Given the description of an element on the screen output the (x, y) to click on. 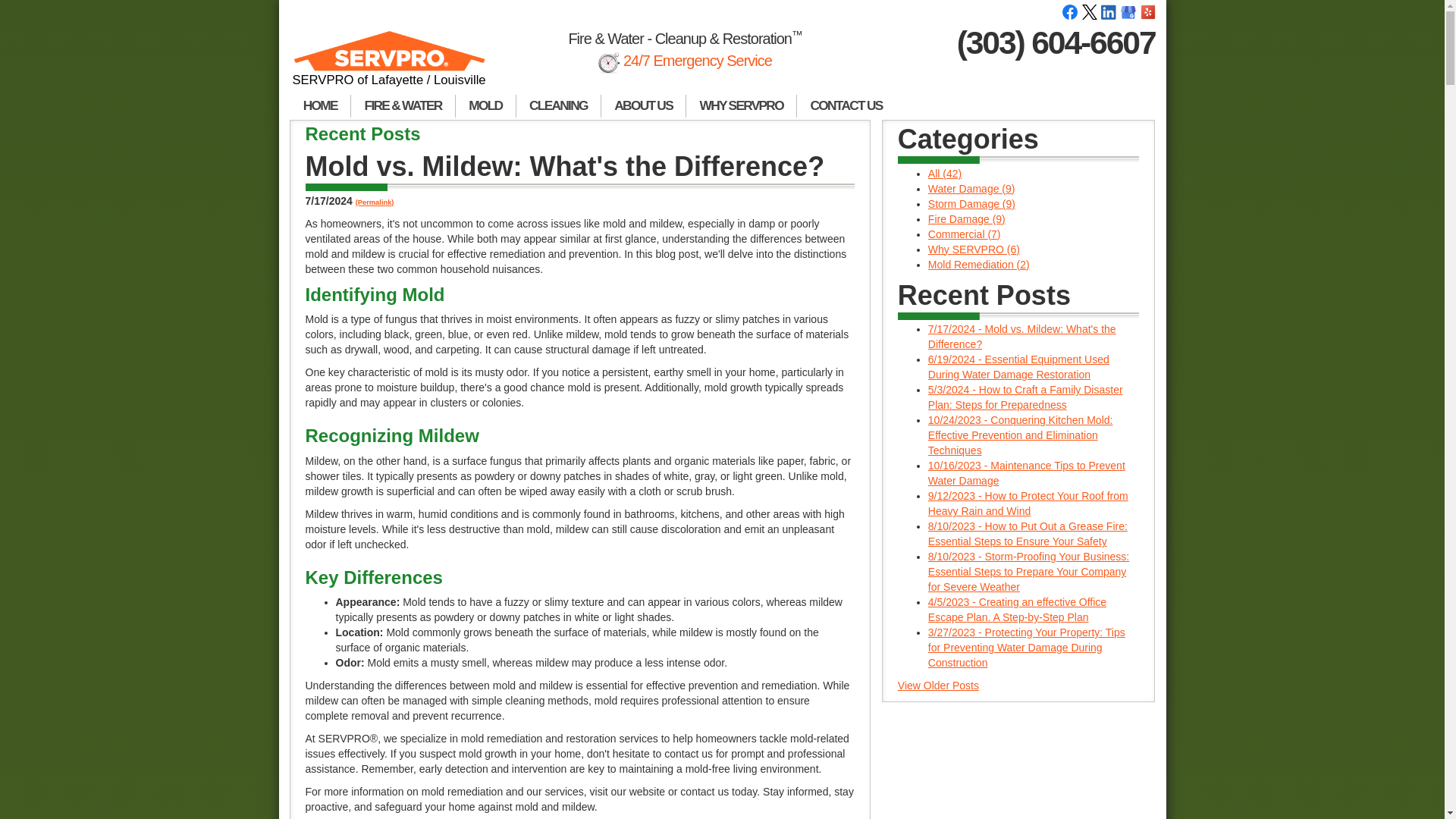
ABOUT US (643, 106)
MOLD (485, 106)
HOME (319, 106)
CLEANING (558, 106)
